Given the description of an element on the screen output the (x, y) to click on. 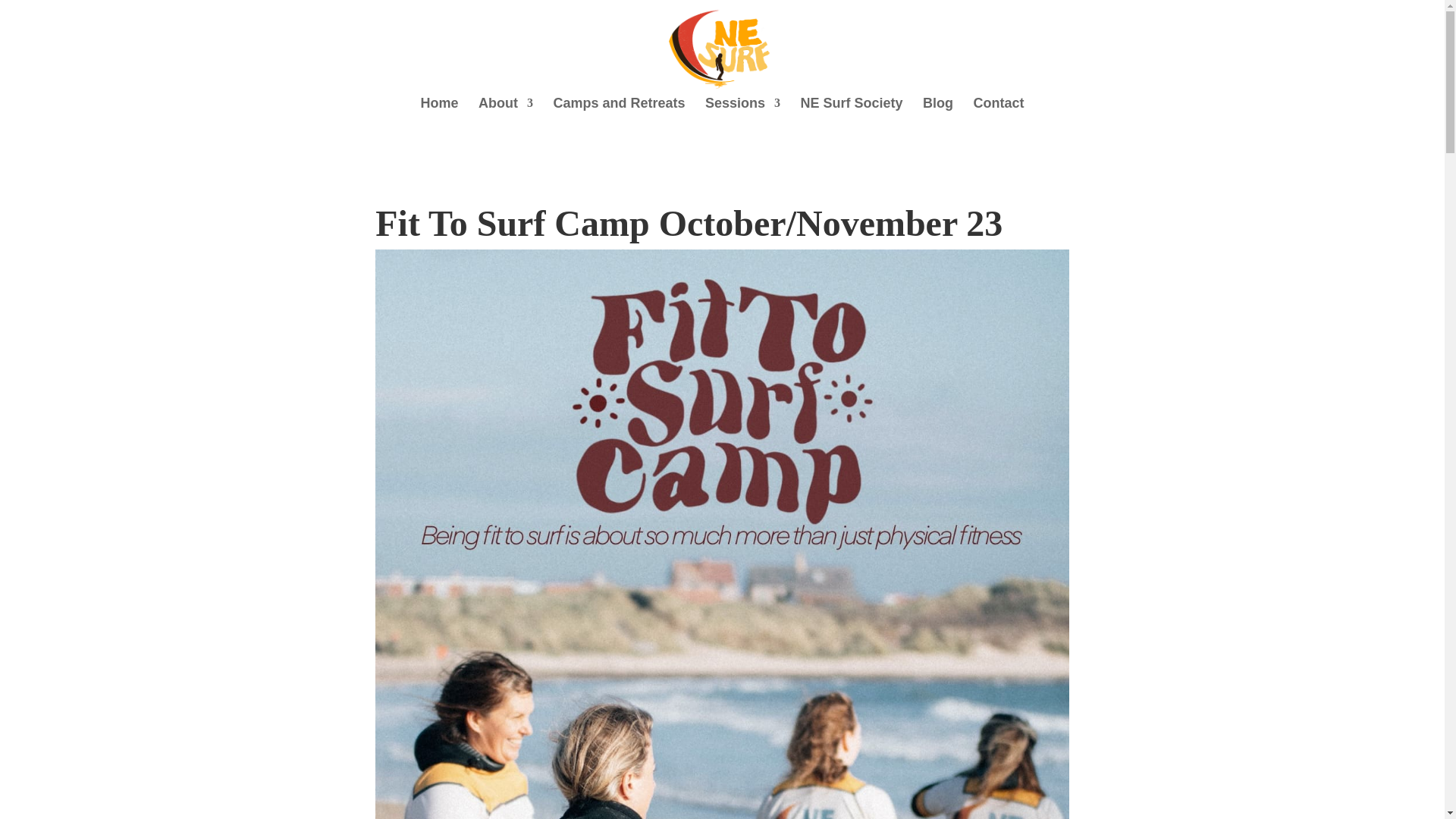
Camps and Retreats (618, 111)
Contact (997, 111)
Blog (938, 111)
Sessions (742, 111)
About (505, 111)
Home (439, 111)
NE Surf Society (850, 111)
